Given the description of an element on the screen output the (x, y) to click on. 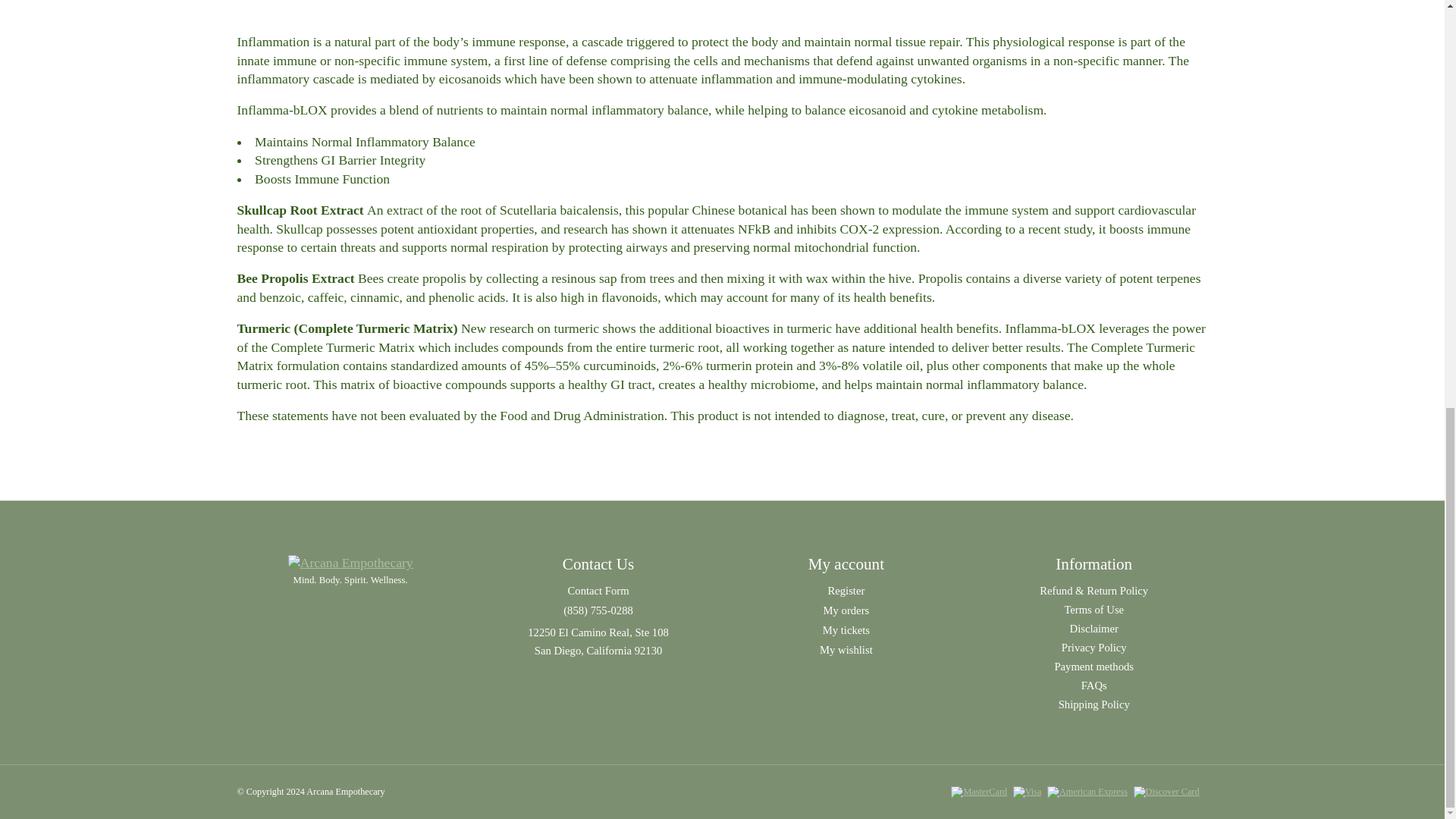
Register (845, 590)
My orders (846, 610)
My wishlist (845, 649)
Terms of Use (1094, 609)
My tickets (845, 630)
FAQs  (1093, 685)
Privacy Policy (1093, 647)
Payment methods (1094, 666)
Disclaimer (1094, 628)
